Given the description of an element on the screen output the (x, y) to click on. 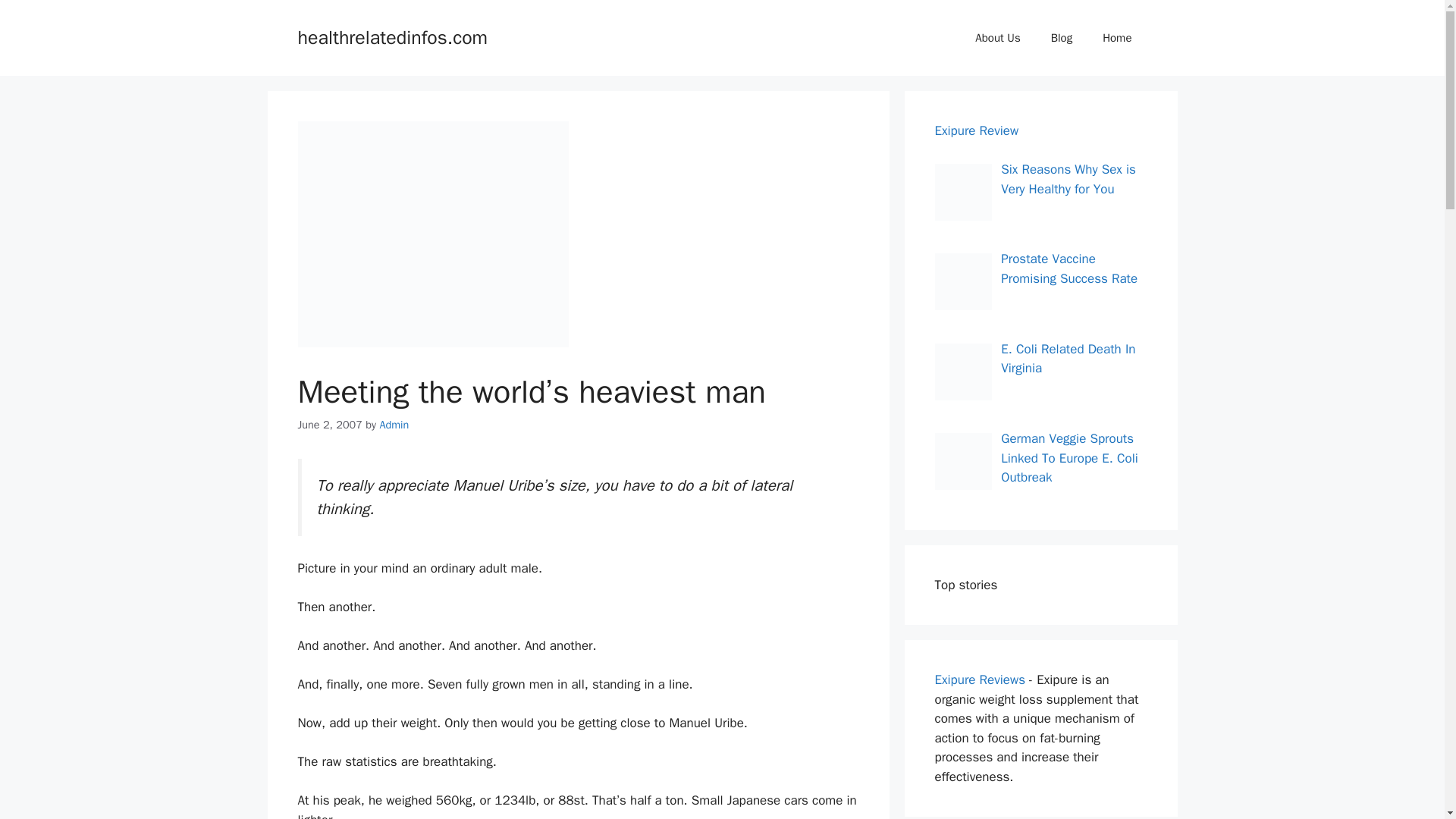
Prostate Vaccine Promising Success Rate (1069, 268)
Exipure Reviews (979, 679)
E. Coli Related Death In Virginia (1068, 358)
Home (1117, 37)
Six Reasons Why Sex is Very Healthy for You (1068, 179)
Admin (393, 424)
About Us (997, 37)
Blog (1061, 37)
healthrelatedinfos.com (392, 37)
View all posts by Admin (393, 424)
German Veggie Sprouts Linked To Europe E. Coli Outbreak (1069, 457)
Exipure Review (975, 130)
